Given the description of an element on the screen output the (x, y) to click on. 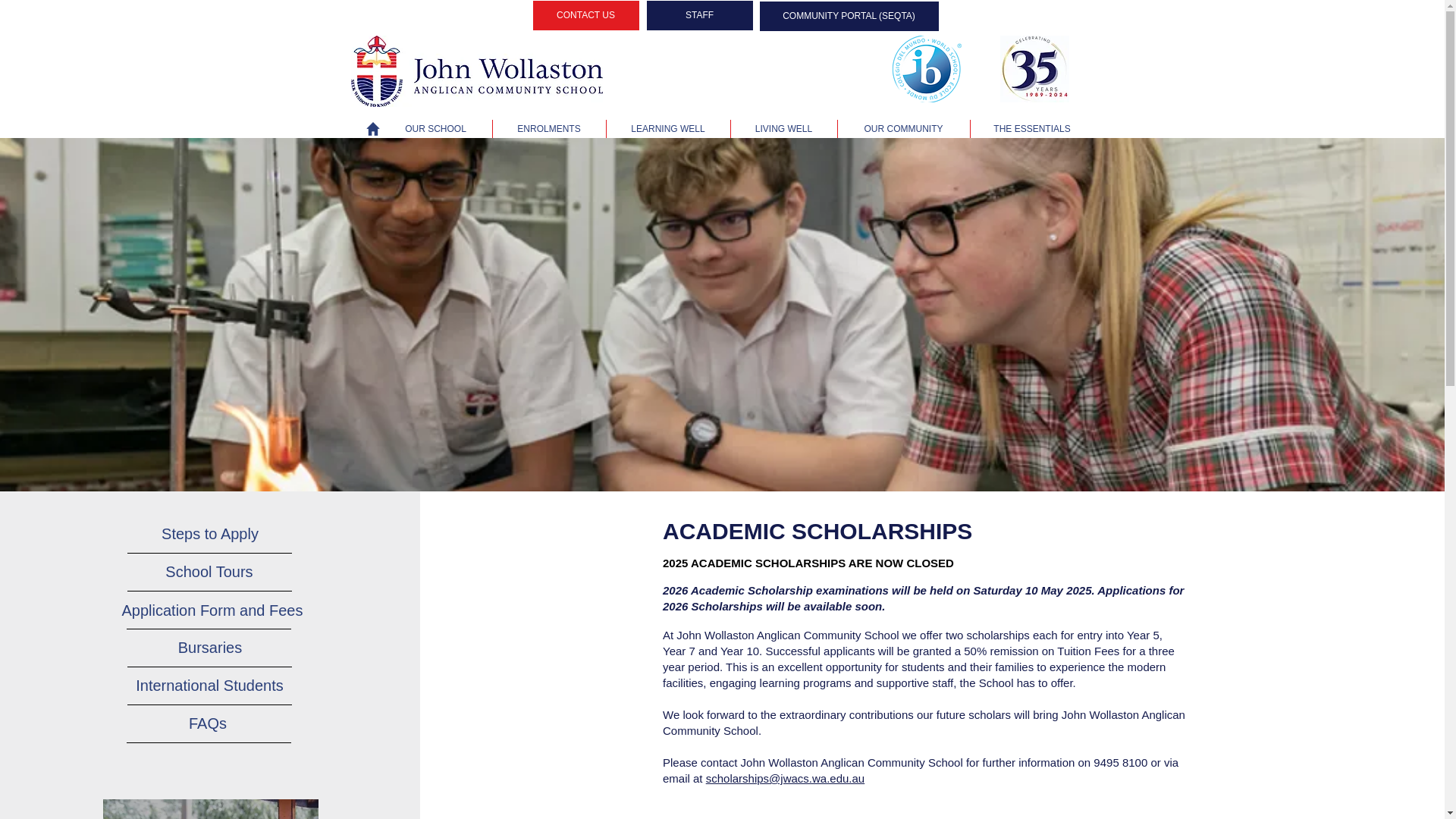
STAFF (699, 15)
CONTACT US (585, 15)
